Given the description of an element on the screen output the (x, y) to click on. 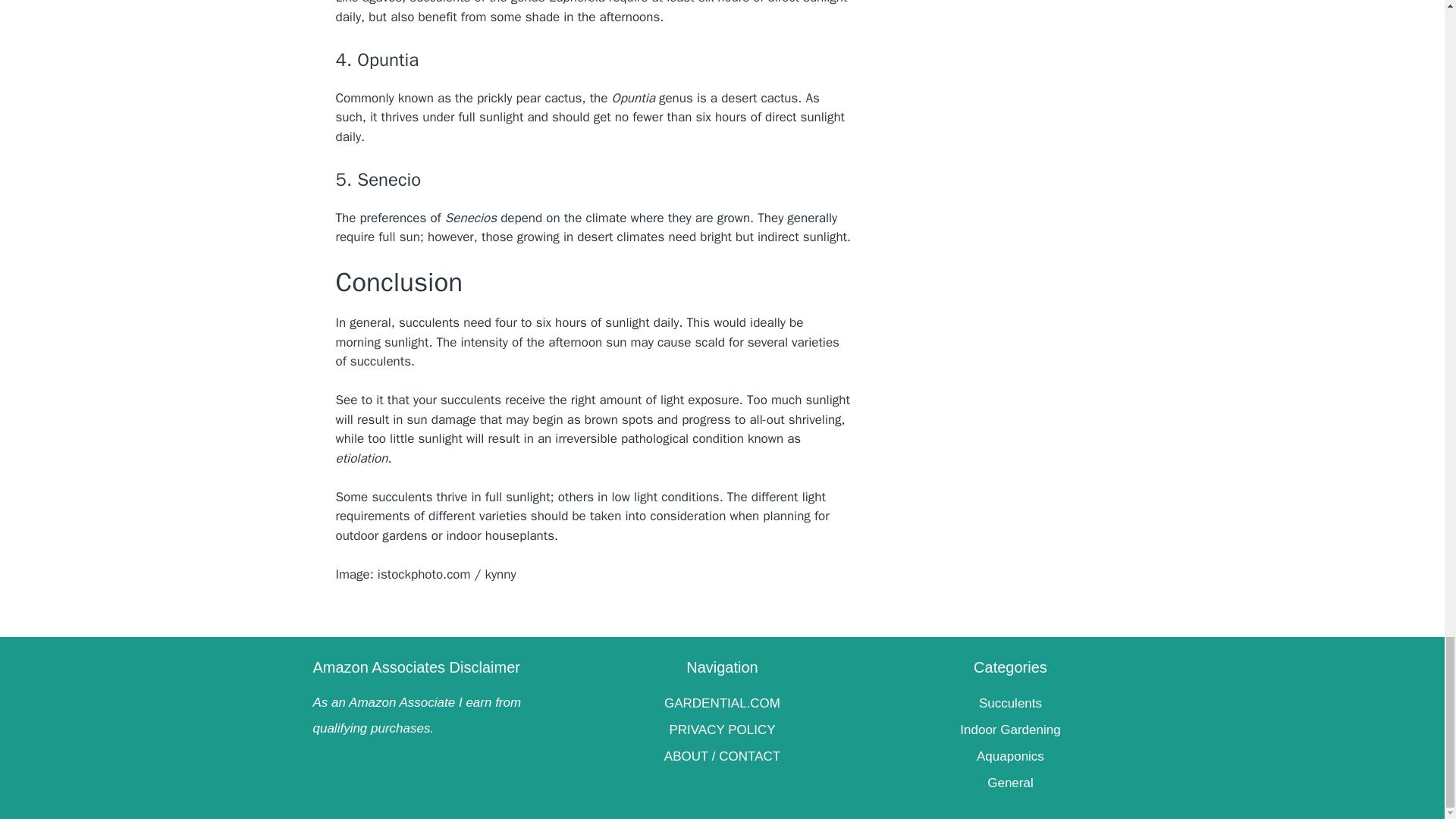
General (1009, 782)
GARDENTIAL.COM (721, 703)
PRIVACY POLICY (721, 729)
Aquaponics (1009, 755)
Indoor Gardening (1009, 729)
Succulents (1009, 703)
